Given the description of an element on the screen output the (x, y) to click on. 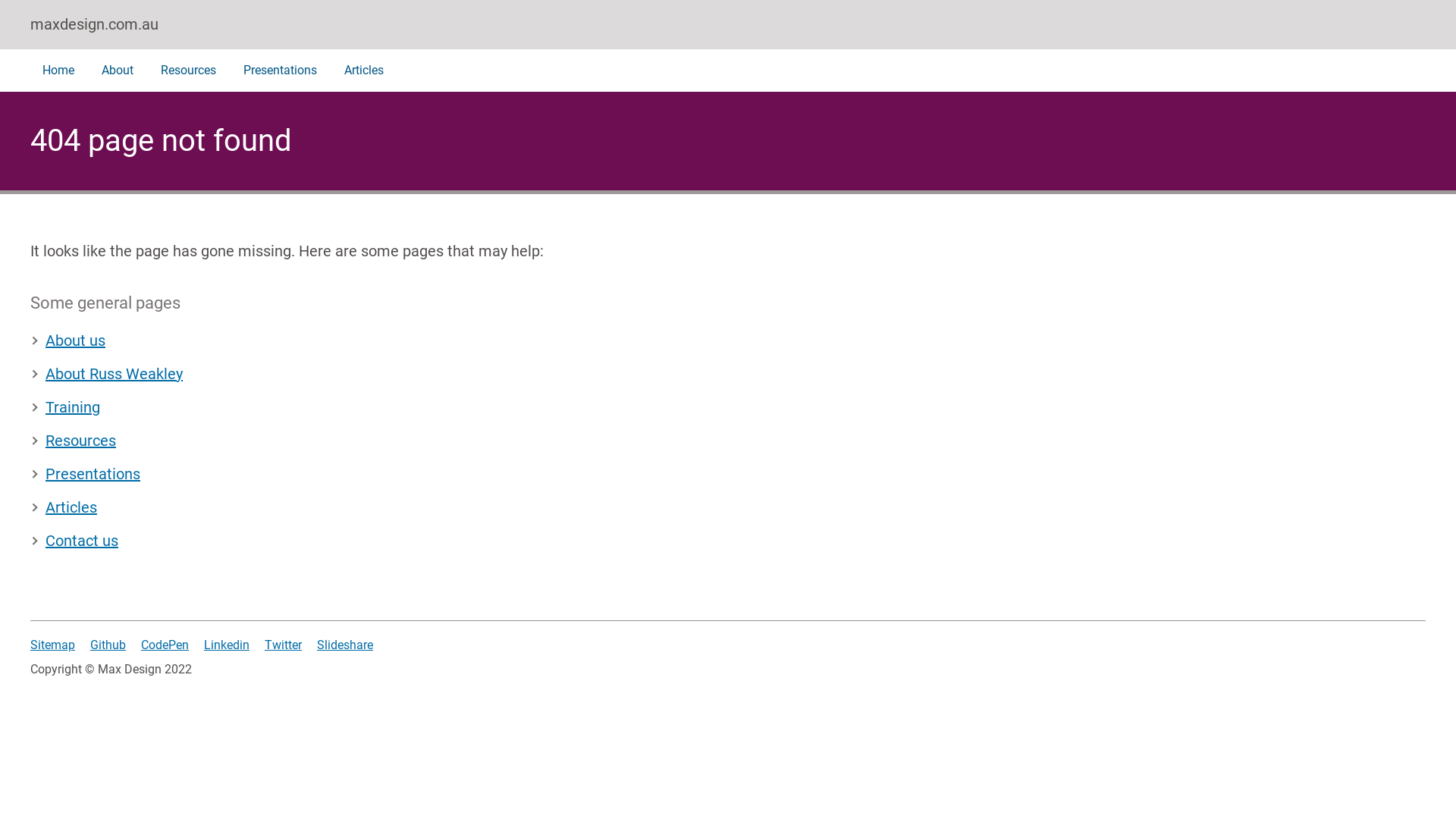
Twitter Element type: text (282, 644)
About us Element type: text (67, 340)
Slideshare Element type: text (344, 644)
Linkedin Element type: text (226, 644)
Articles Element type: text (363, 70)
Github Element type: text (107, 644)
About Russ Weakley Element type: text (106, 373)
Articles Element type: text (63, 506)
Sitemap Element type: text (52, 644)
Home Element type: text (58, 70)
Resources Element type: text (188, 70)
Presentations Element type: text (85, 473)
Resources Element type: text (73, 440)
Contact us Element type: text (74, 540)
About Element type: text (117, 70)
Training Element type: text (65, 406)
CodePen Element type: text (164, 644)
Presentations Element type: text (280, 70)
